Given the description of an element on the screen output the (x, y) to click on. 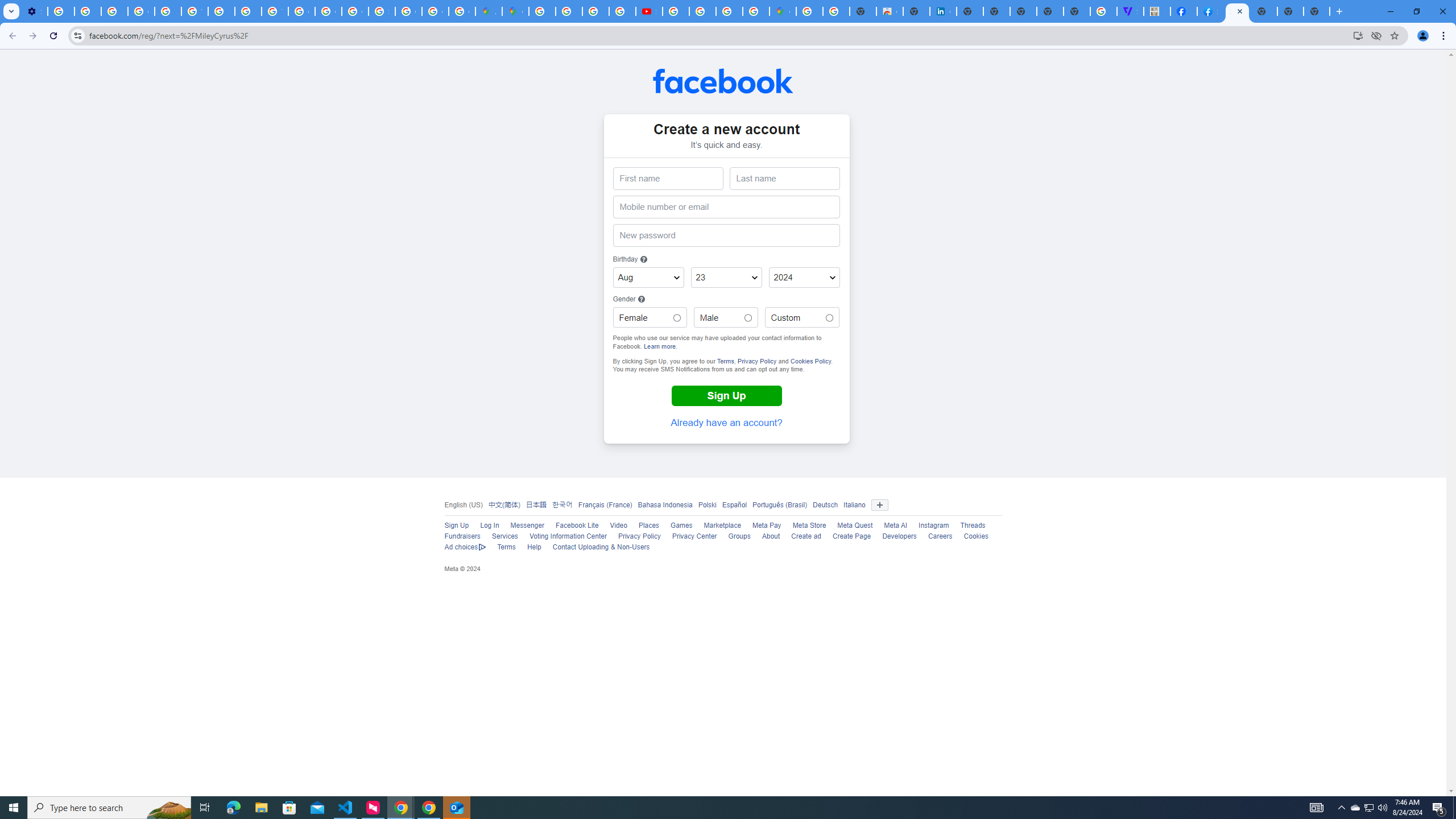
Voting Information Center (567, 536)
Blogger Policies and Guidelines - Transparency Center (542, 11)
Careers (939, 536)
Sign Up (726, 396)
Bahasa Indonesia (665, 504)
Developers (899, 536)
https://scholar.google.com/ (221, 11)
Terms (505, 547)
Polski (706, 504)
You (1422, 35)
Sign in - Google Accounts (382, 11)
Places (648, 525)
Install Facebook (1358, 35)
